Given the description of an element on the screen output the (x, y) to click on. 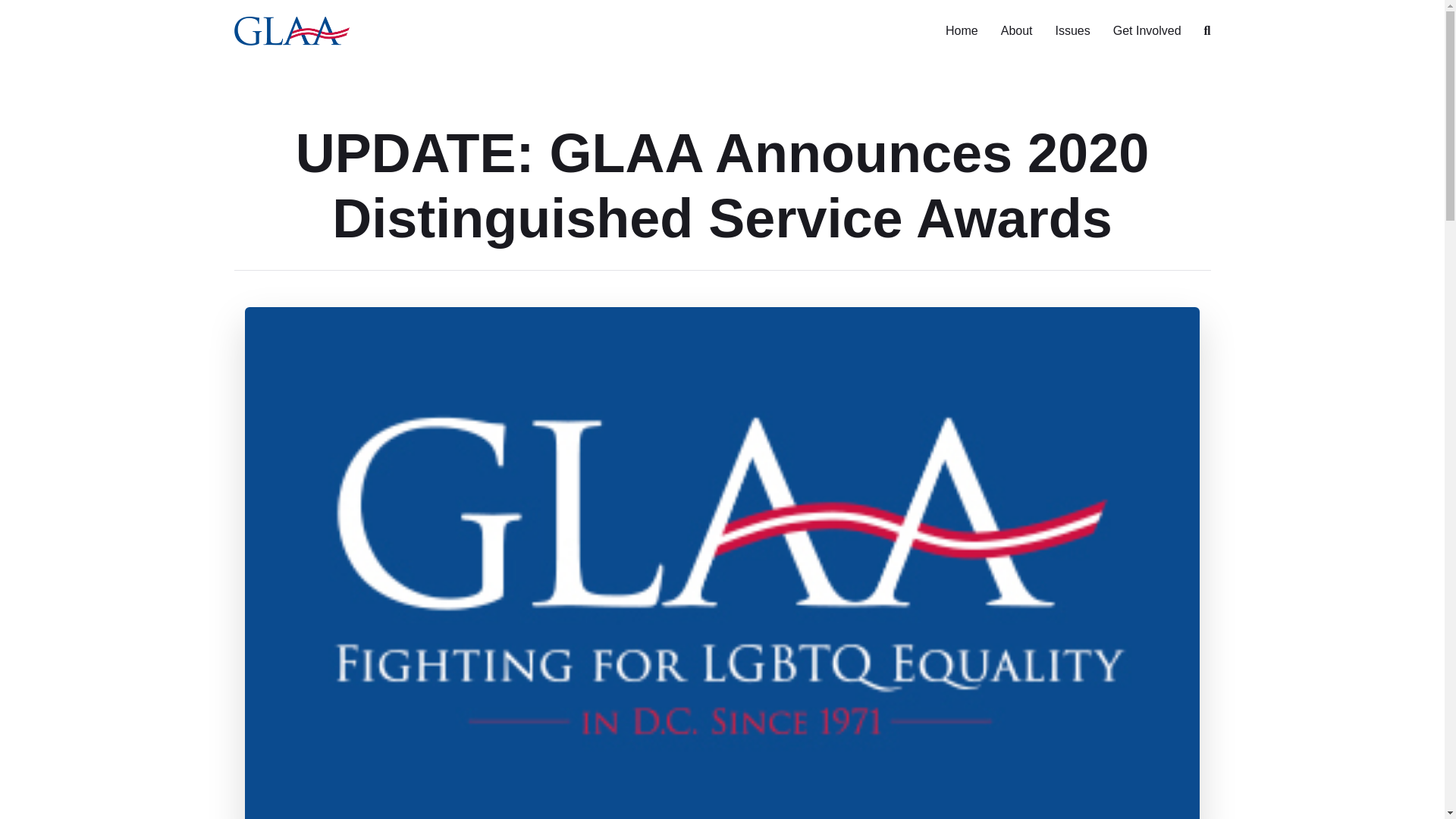
Get Involved (1147, 31)
